Given the description of an element on the screen output the (x, y) to click on. 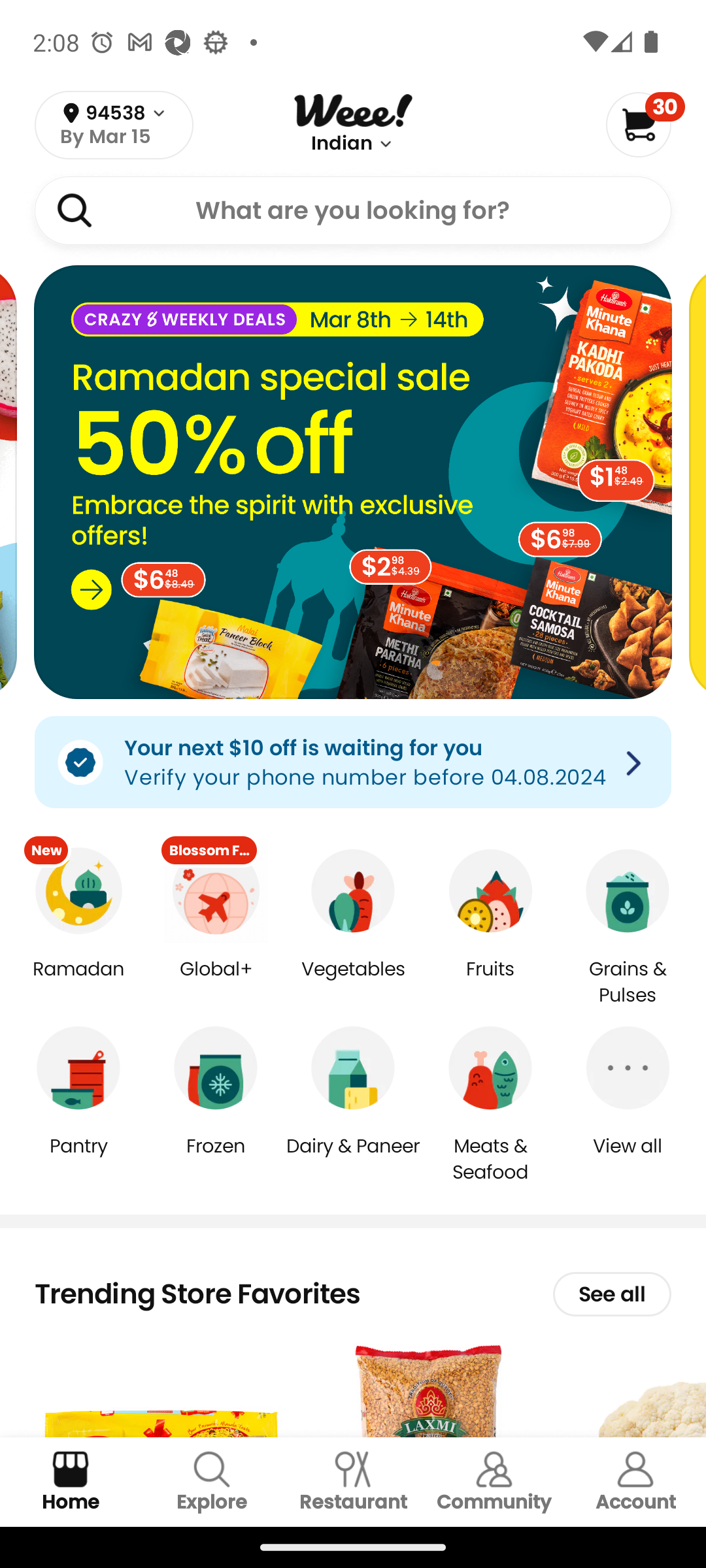
94538 By Mar 15 (113, 124)
30 (644, 124)
Indian (341, 143)
What are you looking for? (352, 209)
Ramadan (77, 982)
Global+ (215, 982)
Vegetables (352, 982)
Fruits (490, 982)
Grains & Pulses (627, 982)
Pantry (77, 1159)
Frozen (215, 1159)
Dairy & Paneer (352, 1159)
Meats & Seafood (490, 1158)
View all (627, 1159)
Home (70, 1482)
Explore (211, 1482)
Restaurant (352, 1482)
Community (493, 1482)
Account (635, 1482)
